Given the description of an element on the screen output the (x, y) to click on. 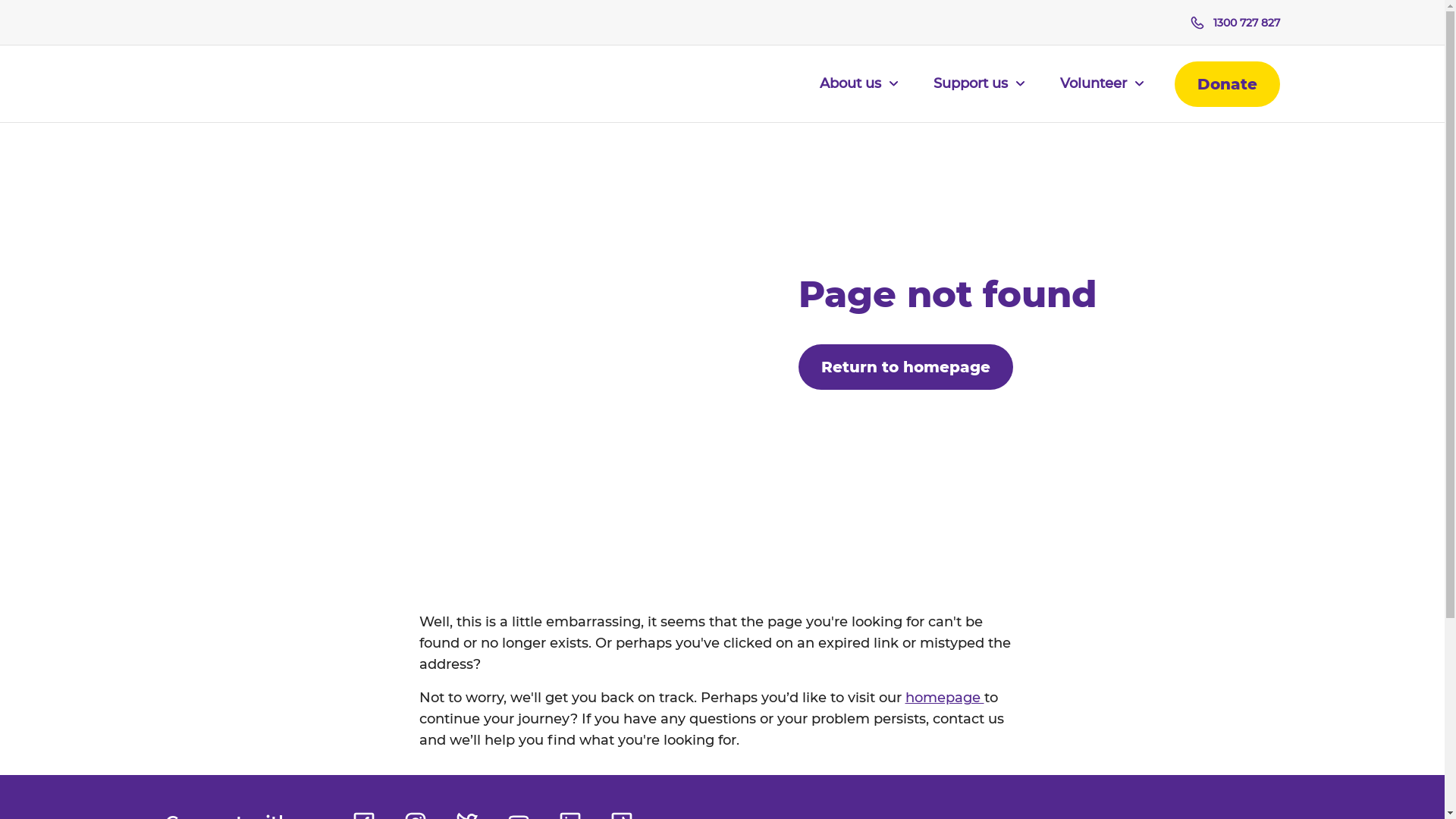
Starlight in hospital Element type: text (722, 244)
Our partners Element type: text (350, 244)
Careers at Starlight Element type: text (350, 335)
Return to homepage Element type: text (904, 366)
Healthier Futures Initiative Element type: text (722, 335)
Donate Element type: text (1226, 83)
Our impact Element type: text (722, 183)
Our Stories
Inspiring tales of fun, support and courage Element type: text (1093, 259)
Wishgranting Element type: text (722, 304)
1300 727 827 Element type: text (1235, 22)
Our people Element type: text (350, 213)
Who we are Element type: text (350, 153)
homepage Element type: text (944, 697)
Support us Element type: text (978, 91)
About us Element type: text (858, 91)
Safeguarding children & young people Element type: text (722, 365)
Our mission Element type: text (350, 183)
Our Reconciliation Action Plan Element type: text (350, 304)
Our performance Element type: text (350, 274)
What we do Element type: text (722, 153)
Starlight Element type: hover (243, 83)
Captain Starlight Element type: text (722, 213)
Livewire Element type: text (722, 274)
Volunteer Element type: text (1102, 91)
